Given the description of an element on the screen output the (x, y) to click on. 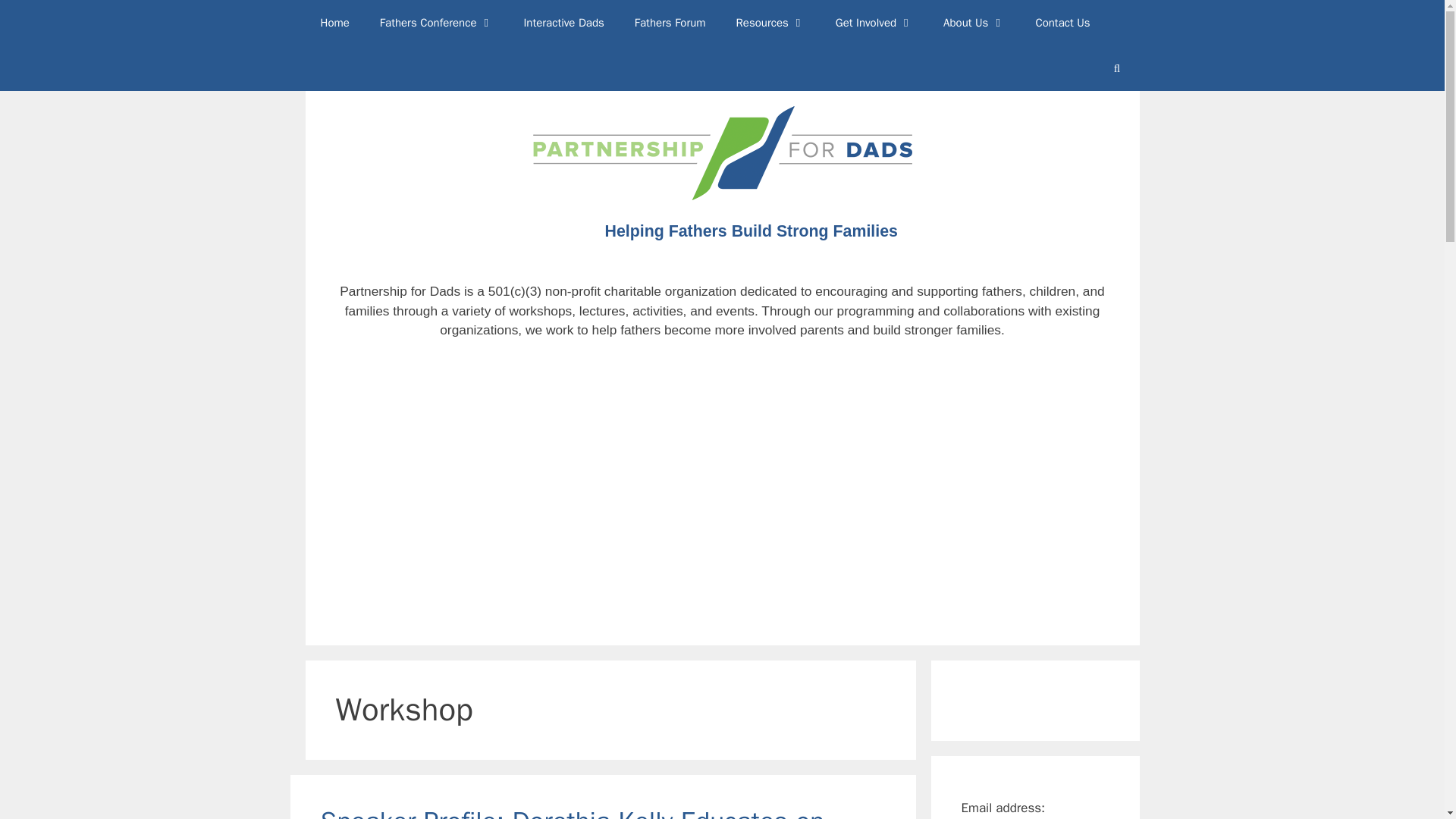
About Us (974, 22)
Fathers Forum (670, 22)
Interactive Dads (563, 22)
Contact Us (1062, 22)
Get Involved (874, 22)
Resources (770, 22)
Fathers Conference (436, 22)
Home (334, 22)
